Given the description of an element on the screen output the (x, y) to click on. 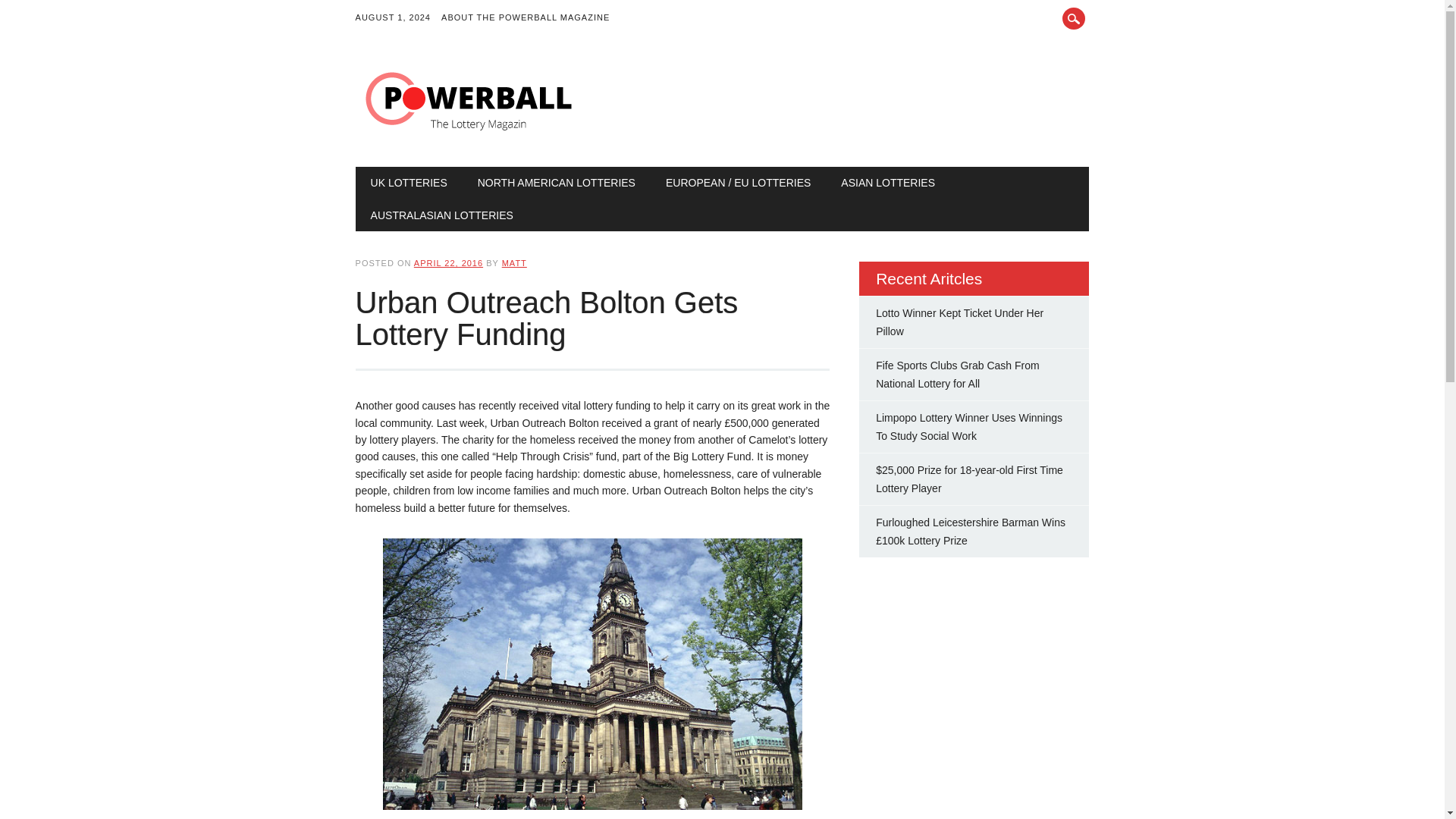
APRIL 22, 2016 (448, 262)
AUSTRALASIAN LOTTERIES (441, 214)
Fife Sports Clubs Grab Cash From National Lottery for All (957, 374)
8:49 am (448, 262)
Powerball (469, 135)
UK LOTTERIES (409, 183)
View all posts by Matt (514, 262)
Limpopo Lottery Winner Uses Winnings To Study Social Work (969, 426)
ASIAN LOTTERIES (887, 183)
ABOUT THE POWERBALL MAGAZINE (531, 17)
Lotto Winner Kept Ticket Under Her Pillow (959, 322)
MATT (514, 262)
NORTH AMERICAN LOTTERIES (556, 183)
